Given the description of an element on the screen output the (x, y) to click on. 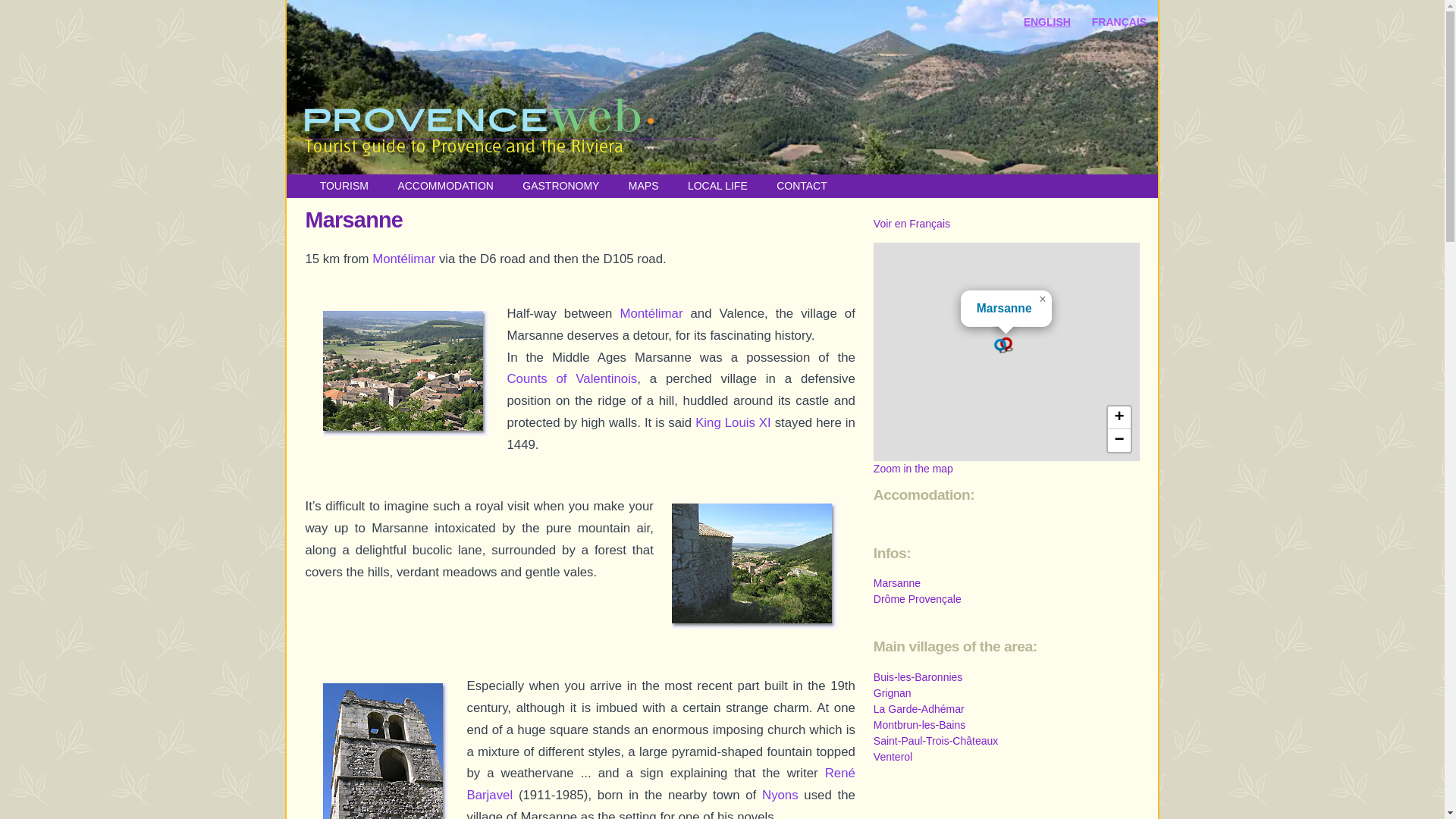
ENGLISH (1046, 21)
GASTRONOMY (560, 185)
TOURISM (344, 185)
LOCAL LIFE (717, 185)
Louis XI on histoire-france.net (733, 422)
Biography of Rene Barjavel sur babelio.com (659, 783)
MAPS (643, 185)
Zoom out (1117, 440)
ACCOMMODATION (445, 185)
Zoom in (1117, 417)
Counts and Dukes of Valentinois on wikipedia (571, 378)
